Given the description of an element on the screen output the (x, y) to click on. 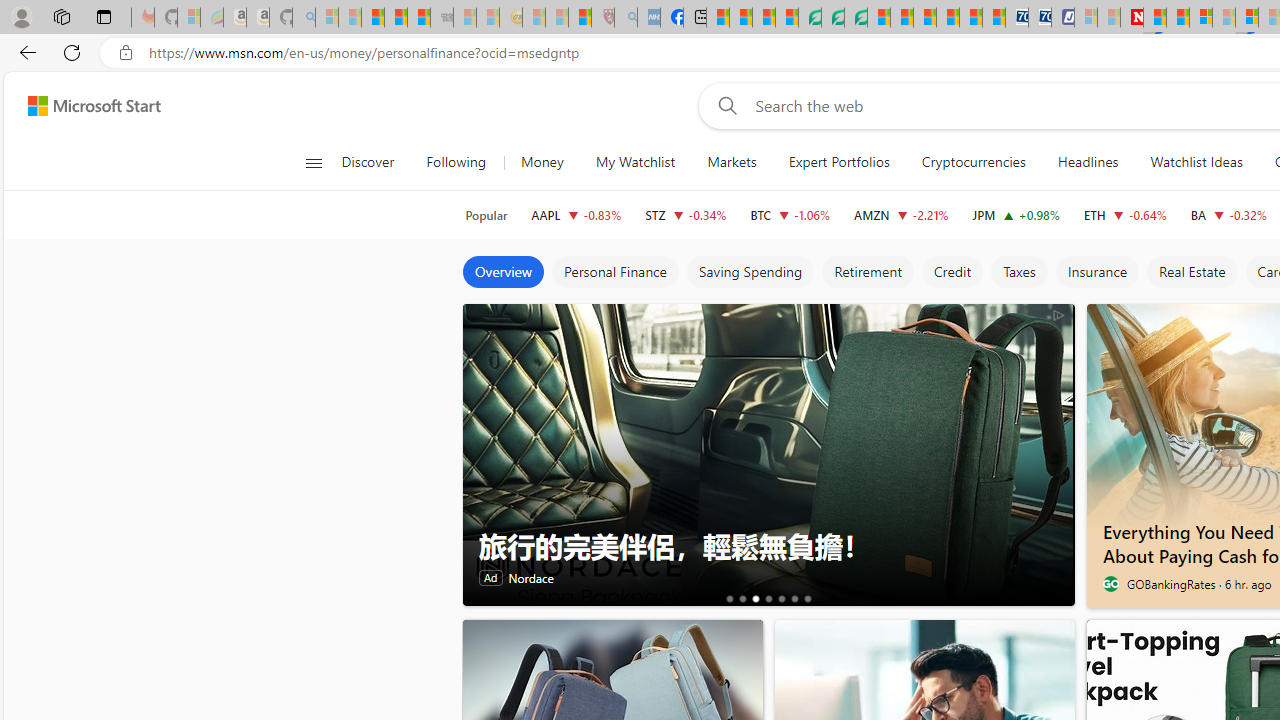
Microsoft Word - consumer-privacy address update 2.2021 (855, 17)
Terms of Use Agreement (832, 17)
Local - MSN (580, 17)
LendingTree - Compare Lenders (809, 17)
